Given the description of an element on the screen output the (x, y) to click on. 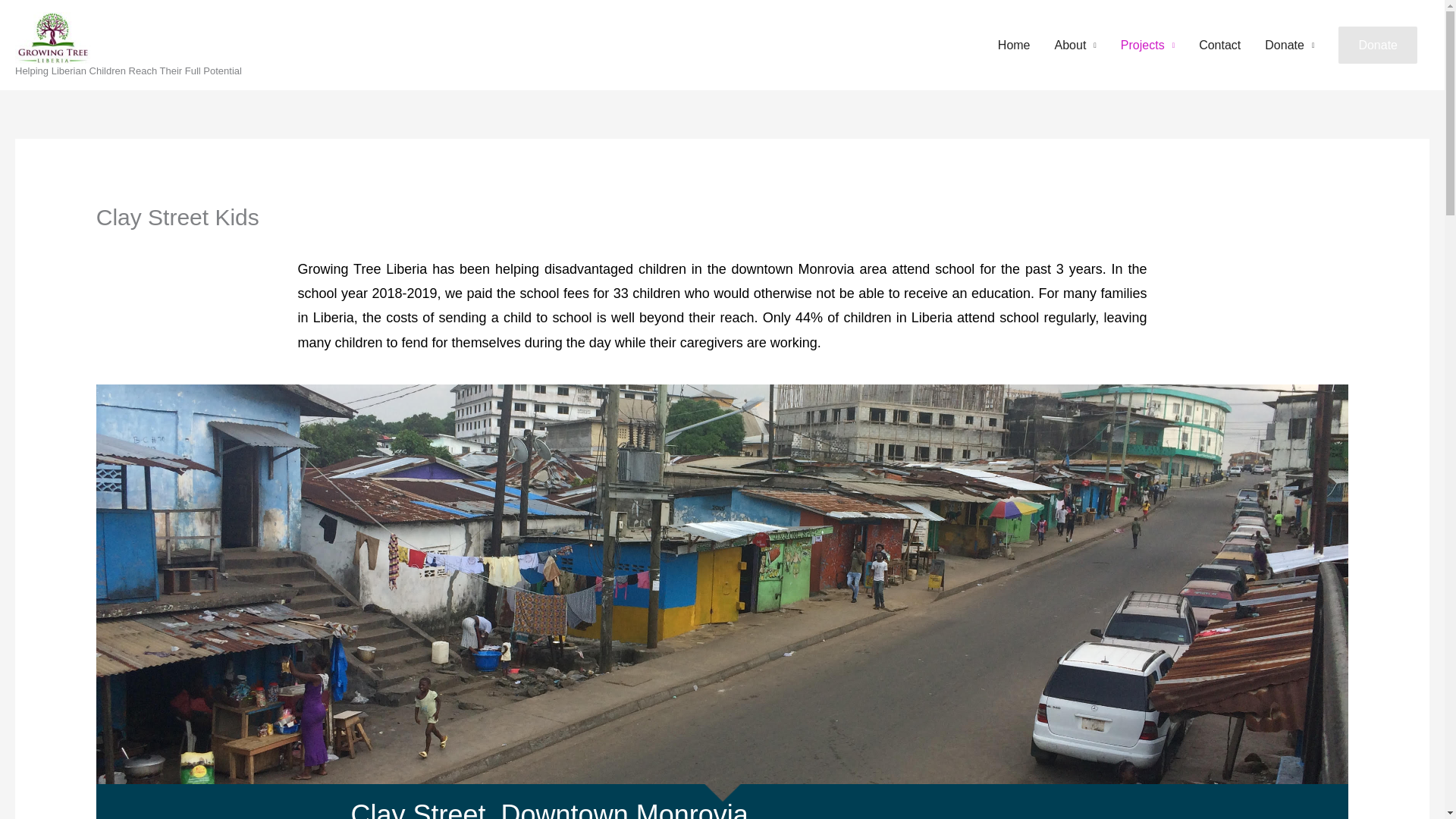
Projects (1147, 45)
Donate (1289, 45)
Contact (1219, 45)
Home (1013, 45)
About (1075, 45)
Donate (1377, 45)
Donate (1377, 45)
